Given the description of an element on the screen output the (x, y) to click on. 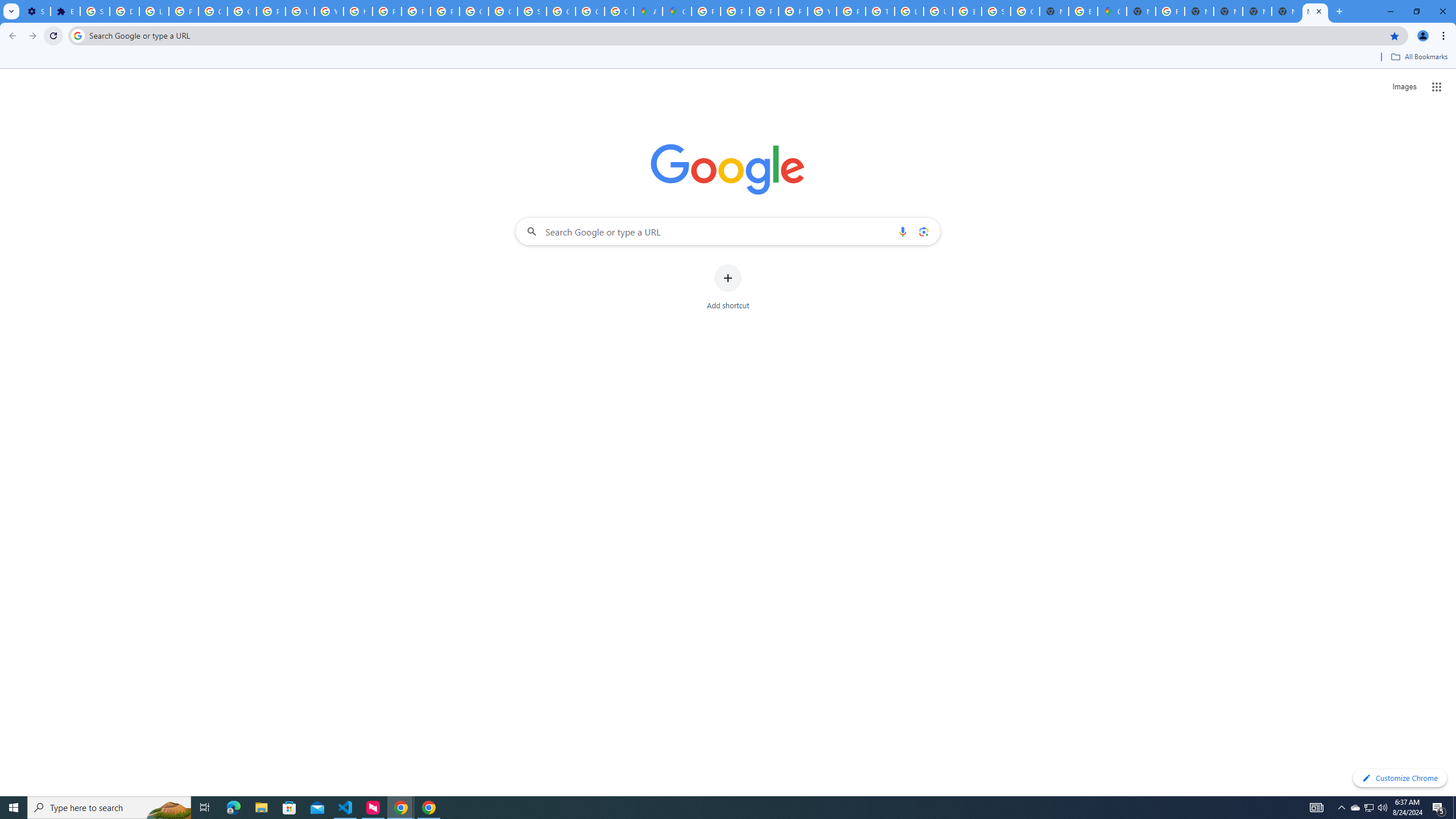
Tips & tricks for Chrome - Google Chrome Help (879, 11)
Search Google or type a URL (727, 230)
Customize Chrome (1399, 778)
YouTube (327, 11)
Extensions (65, 11)
